Given the description of an element on the screen output the (x, y) to click on. 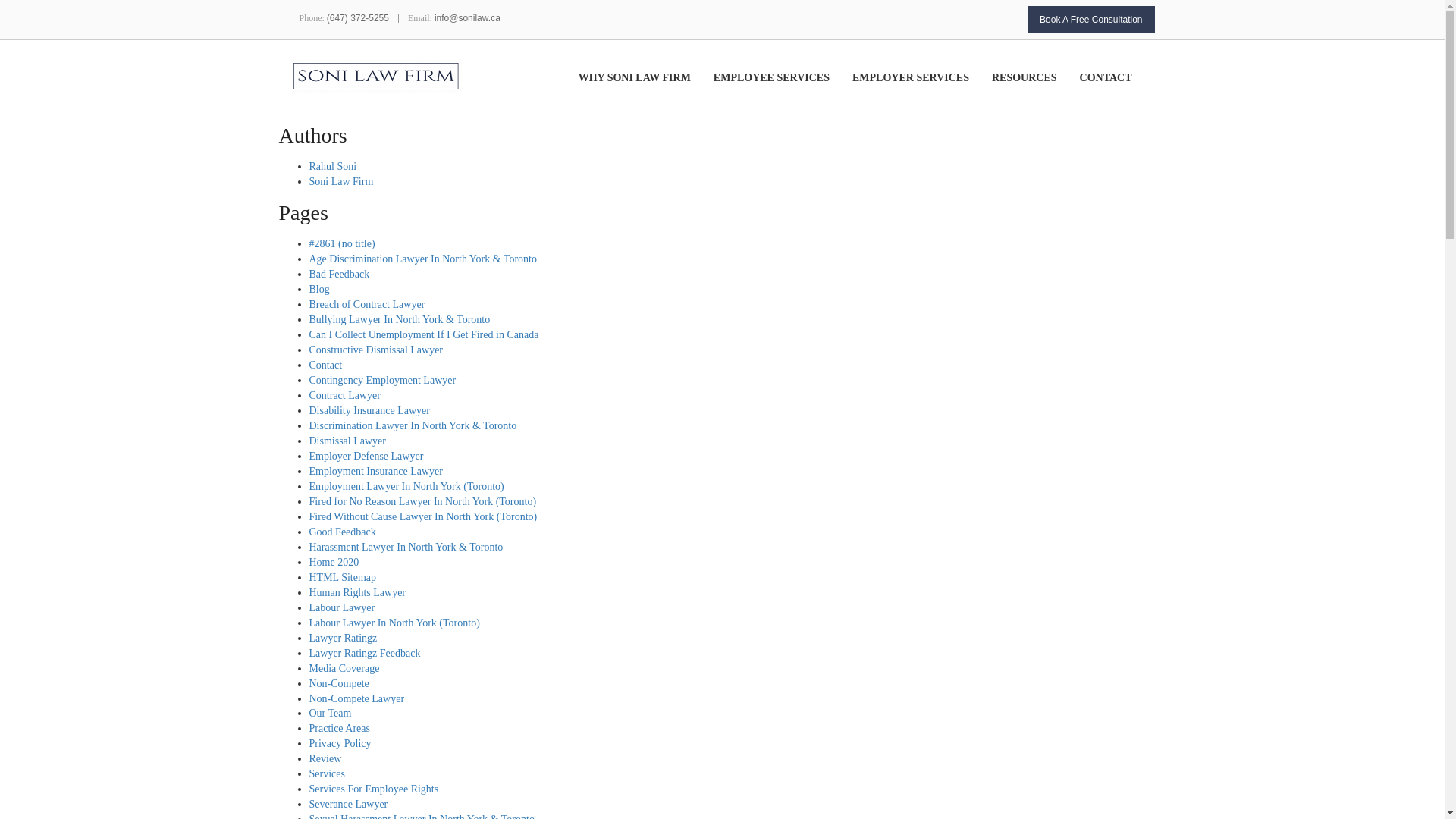
WHY SONI LAW FIRM (645, 92)
Posts by Rahul Soni (332, 165)
EMPLOYEE SERVICES (782, 92)
RESOURCES (1035, 92)
Posts by Soni Law Firm (341, 181)
Book A Free Consultation (1090, 19)
EMPLOYER SERVICES (921, 92)
